Given the description of an element on the screen output the (x, y) to click on. 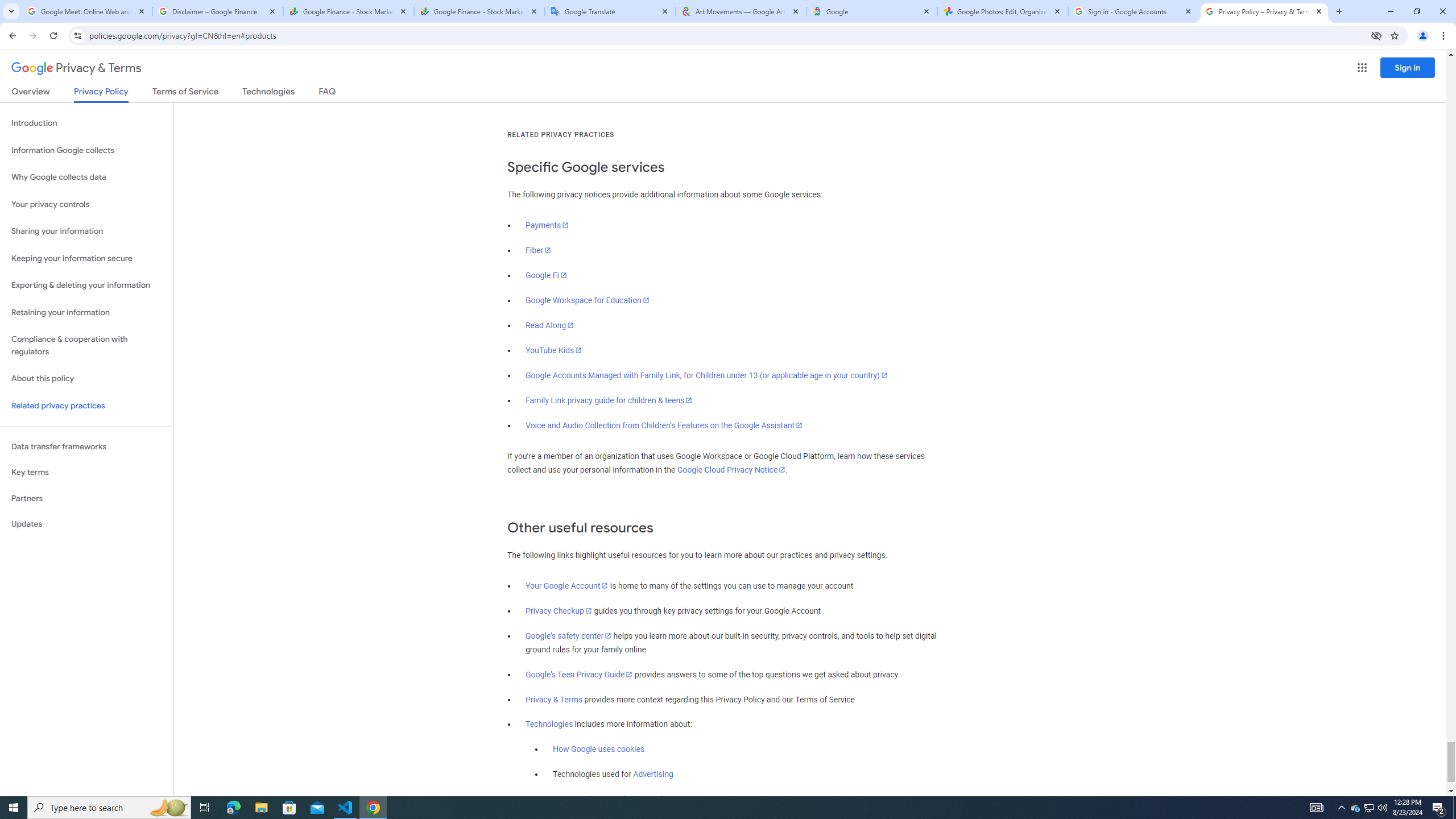
Updates (86, 524)
Sign in - Google Accounts (1133, 11)
About this policy (86, 379)
Privacy Checkup (558, 610)
